Given the description of an element on the screen output the (x, y) to click on. 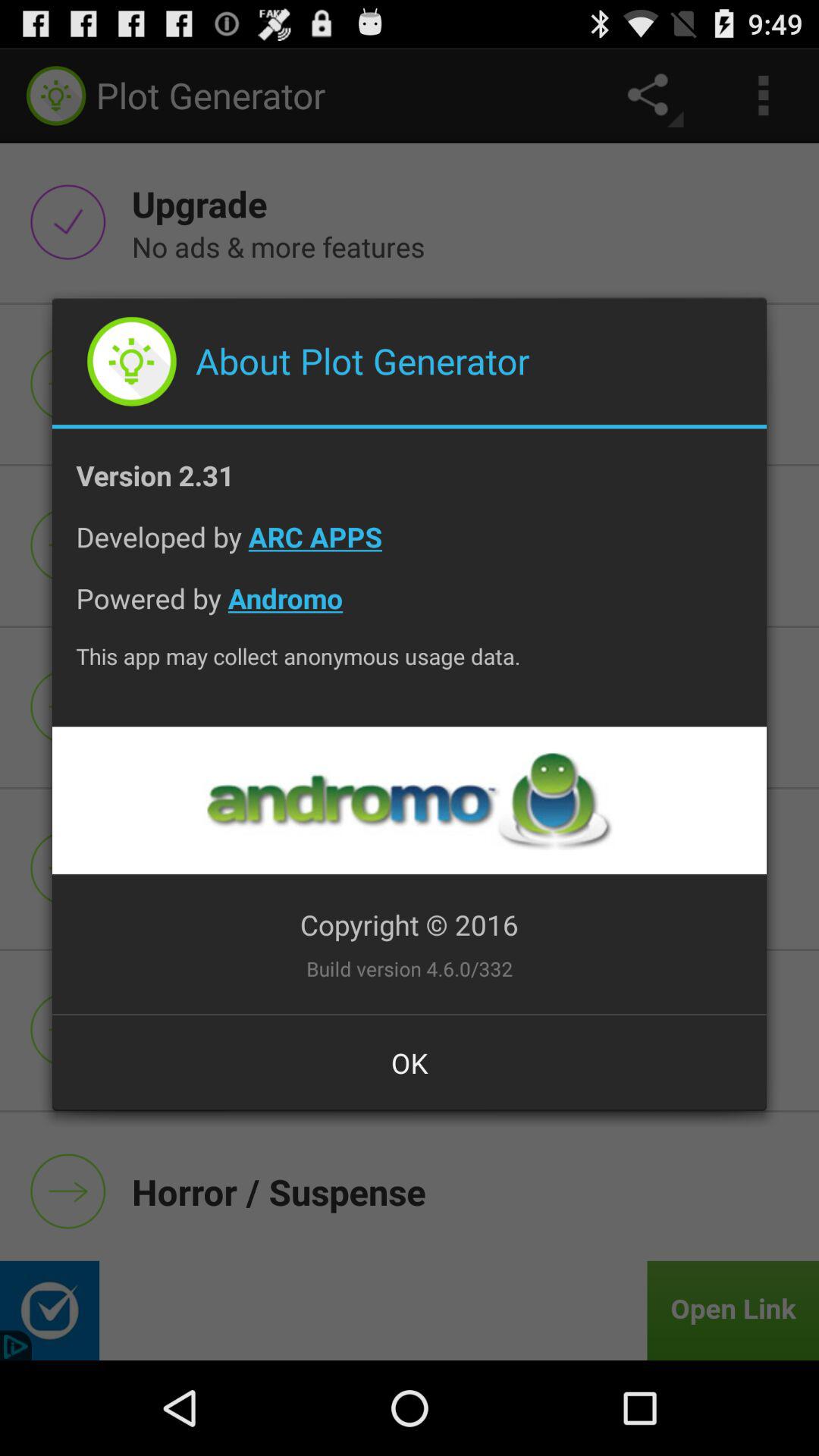
press the icon below the developed by arc item (409, 609)
